Given the description of an element on the screen output the (x, y) to click on. 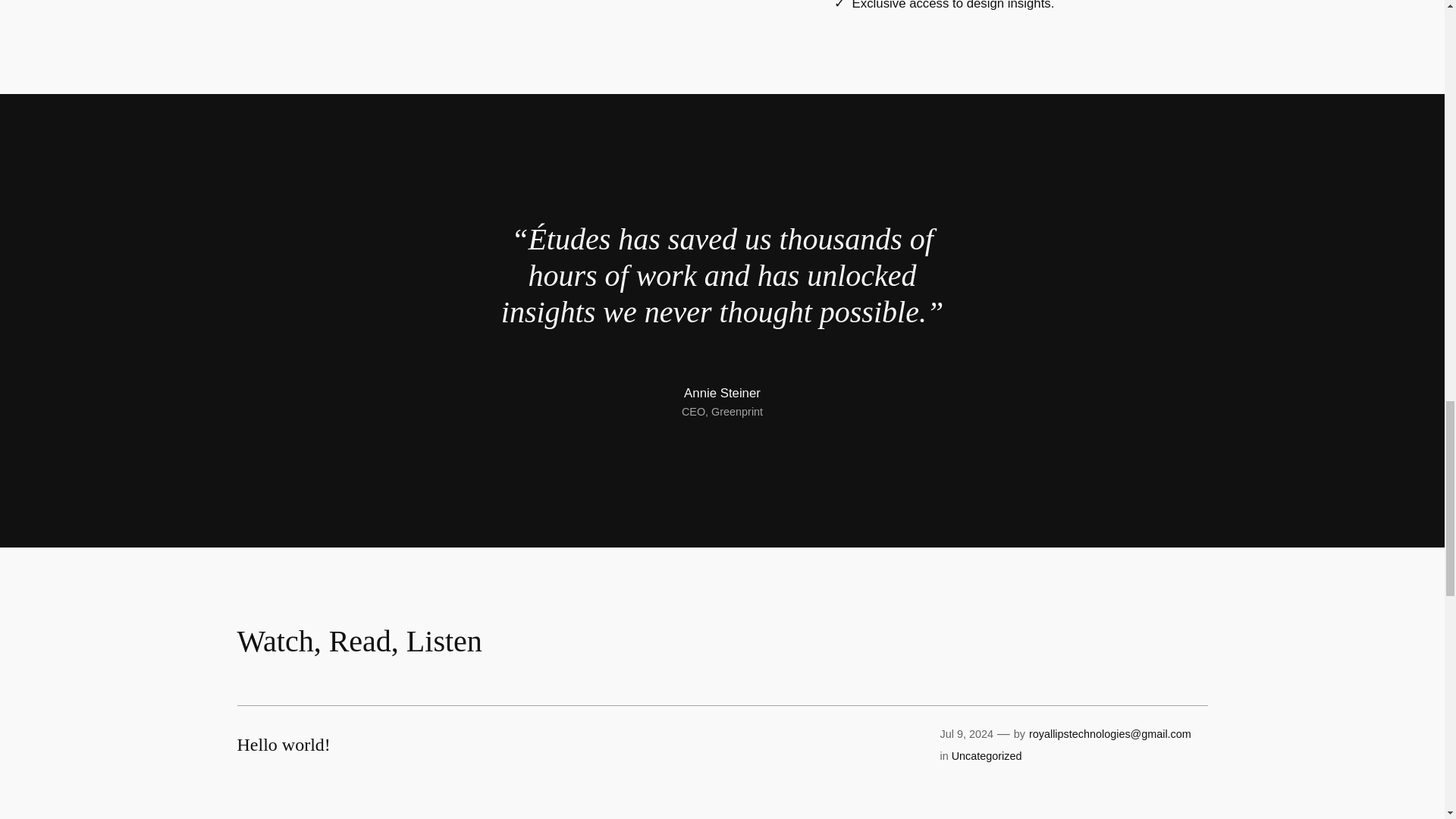
Hello world! (282, 744)
Jul 9, 2024 (965, 734)
Uncategorized (987, 756)
